Given the description of an element on the screen output the (x, y) to click on. 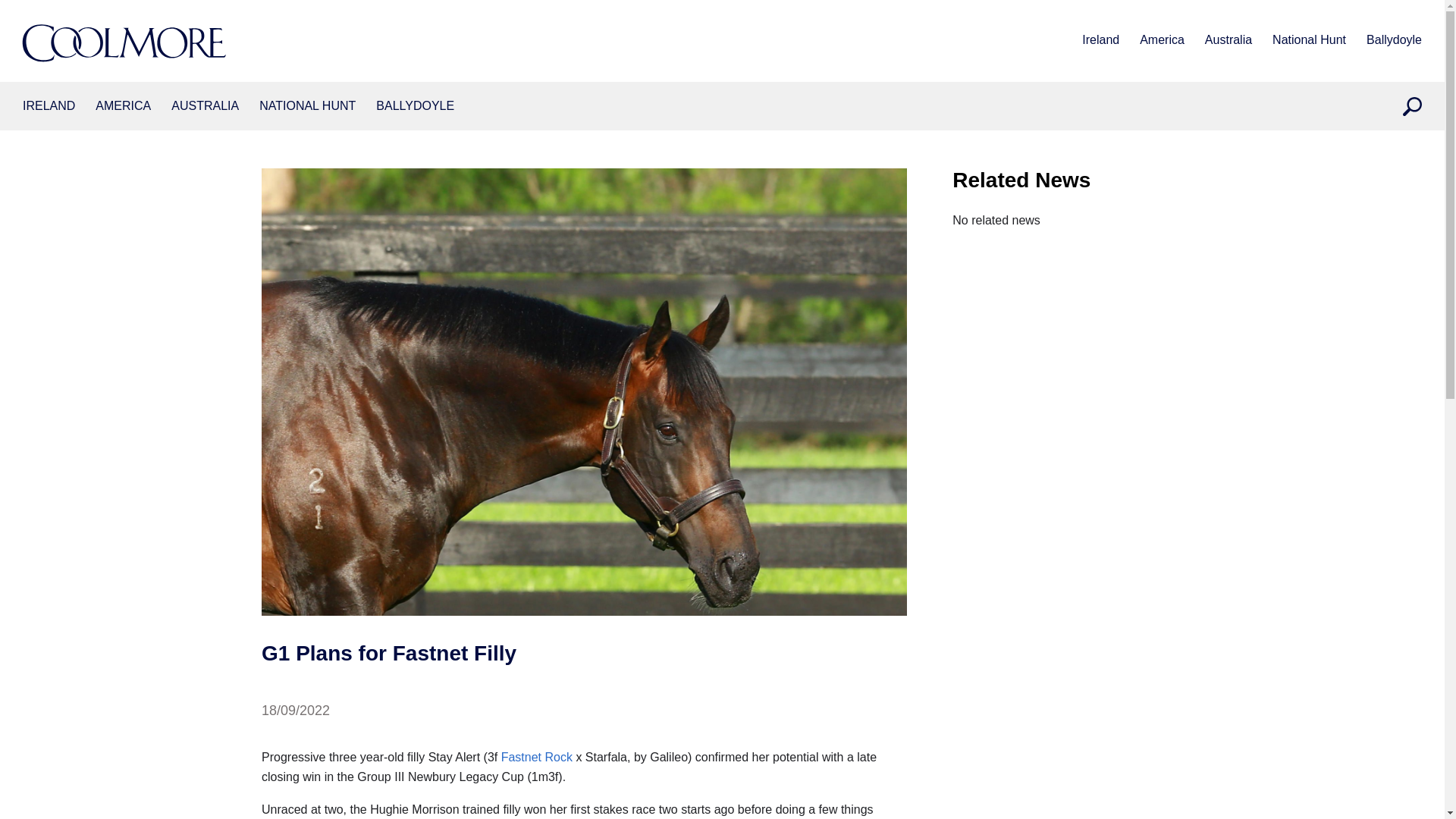
America (1162, 40)
NATIONAL HUNT (307, 106)
Australia (204, 106)
Ireland (49, 106)
Ireland (1100, 40)
BALLYDOYLE (414, 106)
Fastnet Rock (536, 757)
Ballydoyle (1394, 40)
IRELAND (49, 106)
icon-magCreated with Sketch. (1412, 106)
